Given the description of an element on the screen output the (x, y) to click on. 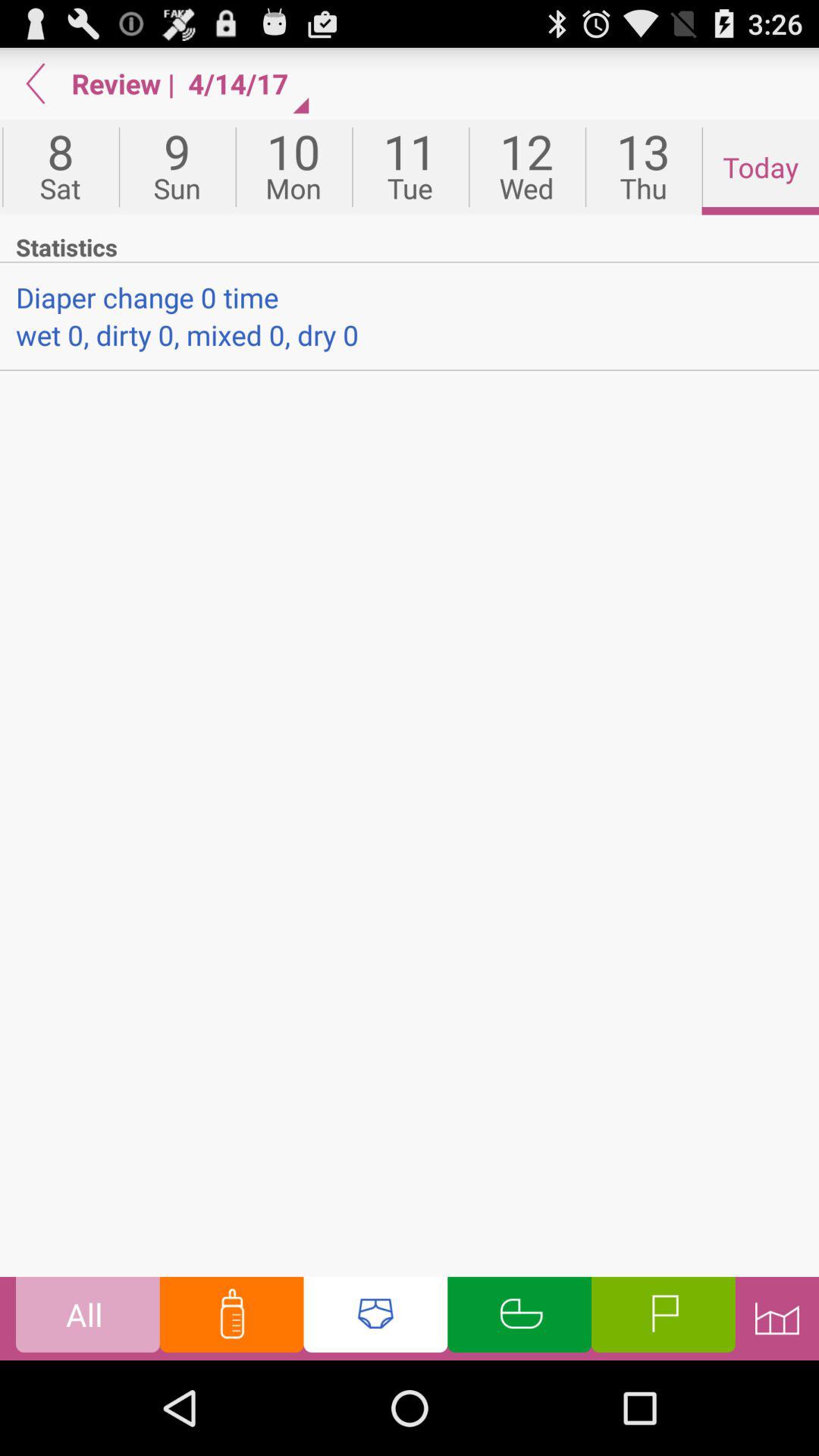
click all button (87, 1318)
